Given the description of an element on the screen output the (x, y) to click on. 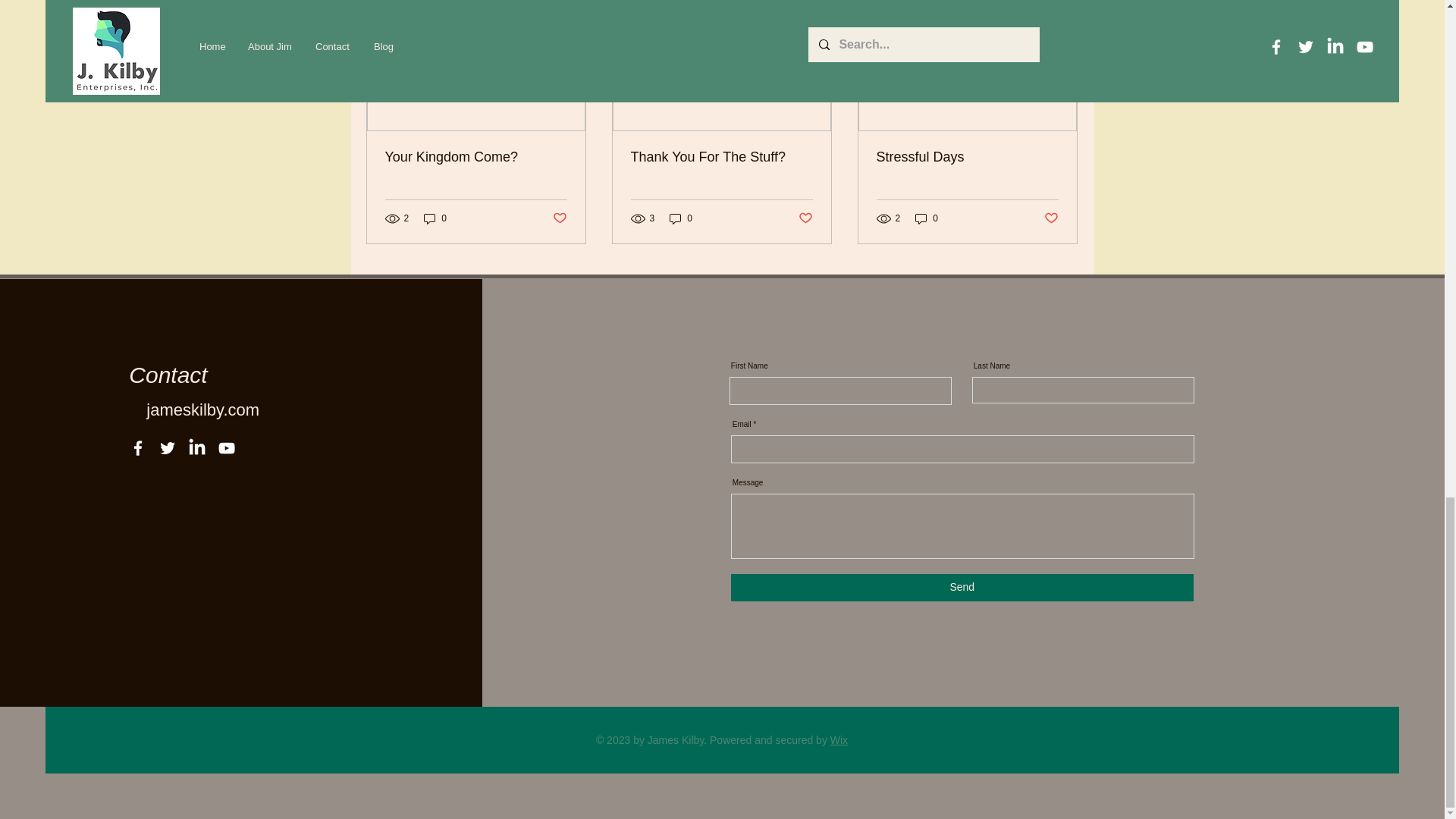
Your Kingdom Come? (476, 157)
Post not marked as liked (558, 217)
0 (435, 218)
0 (681, 218)
Thank You For The Stuff? (721, 157)
